Given the description of an element on the screen output the (x, y) to click on. 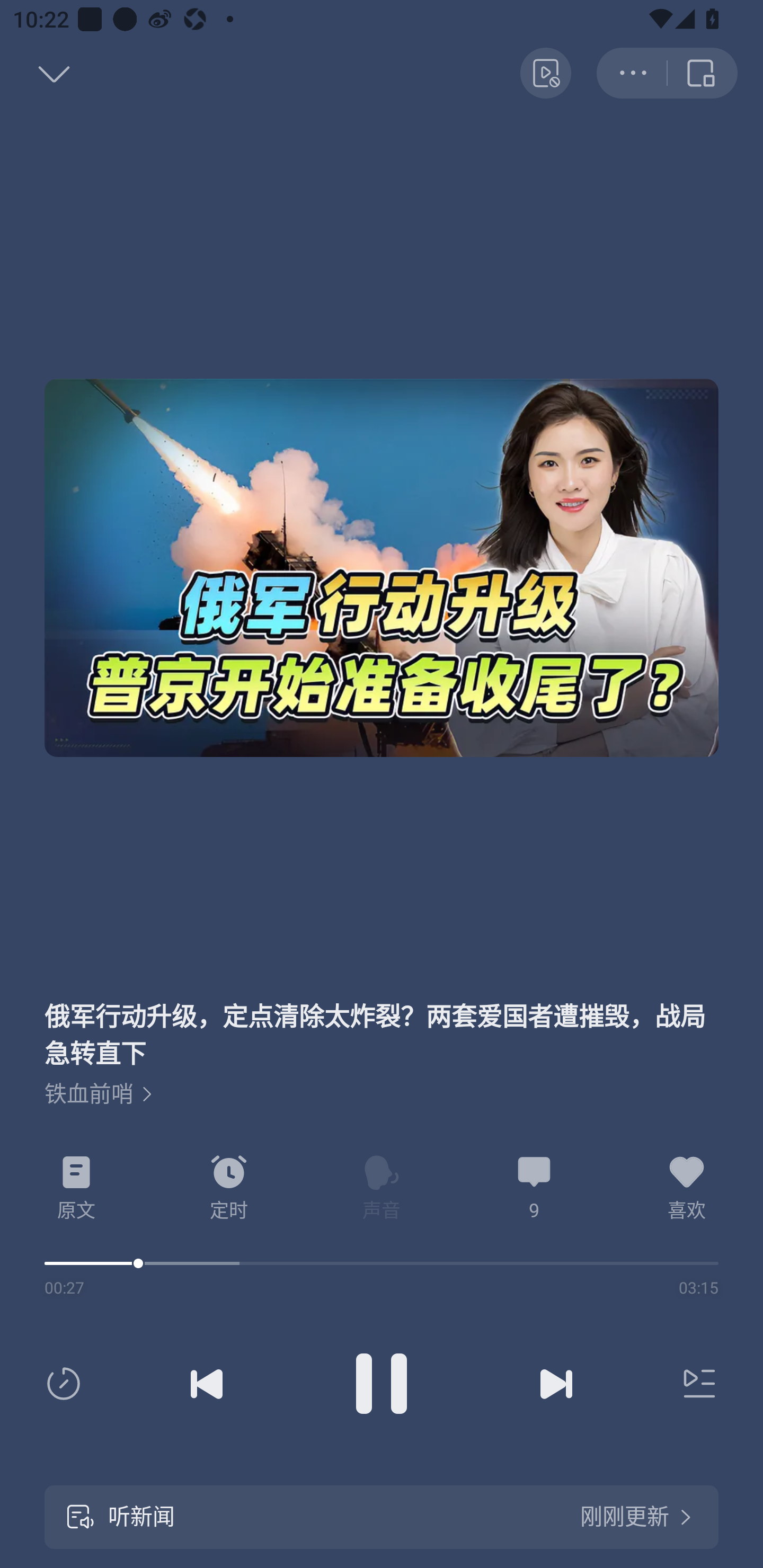
返回 (35, 72)
更多 (631, 72)
返回 (702, 72)
铁血前哨 (98, 1094)
原文 (76, 1188)
定时，按钮 定时 (228, 1188)
声音，音色按钮 声音 (381, 1188)
9条评论，按钮 9 (533, 1188)
喜欢，按钮 喜欢 (686, 1188)
暂停 (381, 1383)
倍速，按钮 (67, 1383)
列表，按钮 (695, 1383)
听新闻 刚刚更新 (381, 1516)
